Given the description of an element on the screen output the (x, y) to click on. 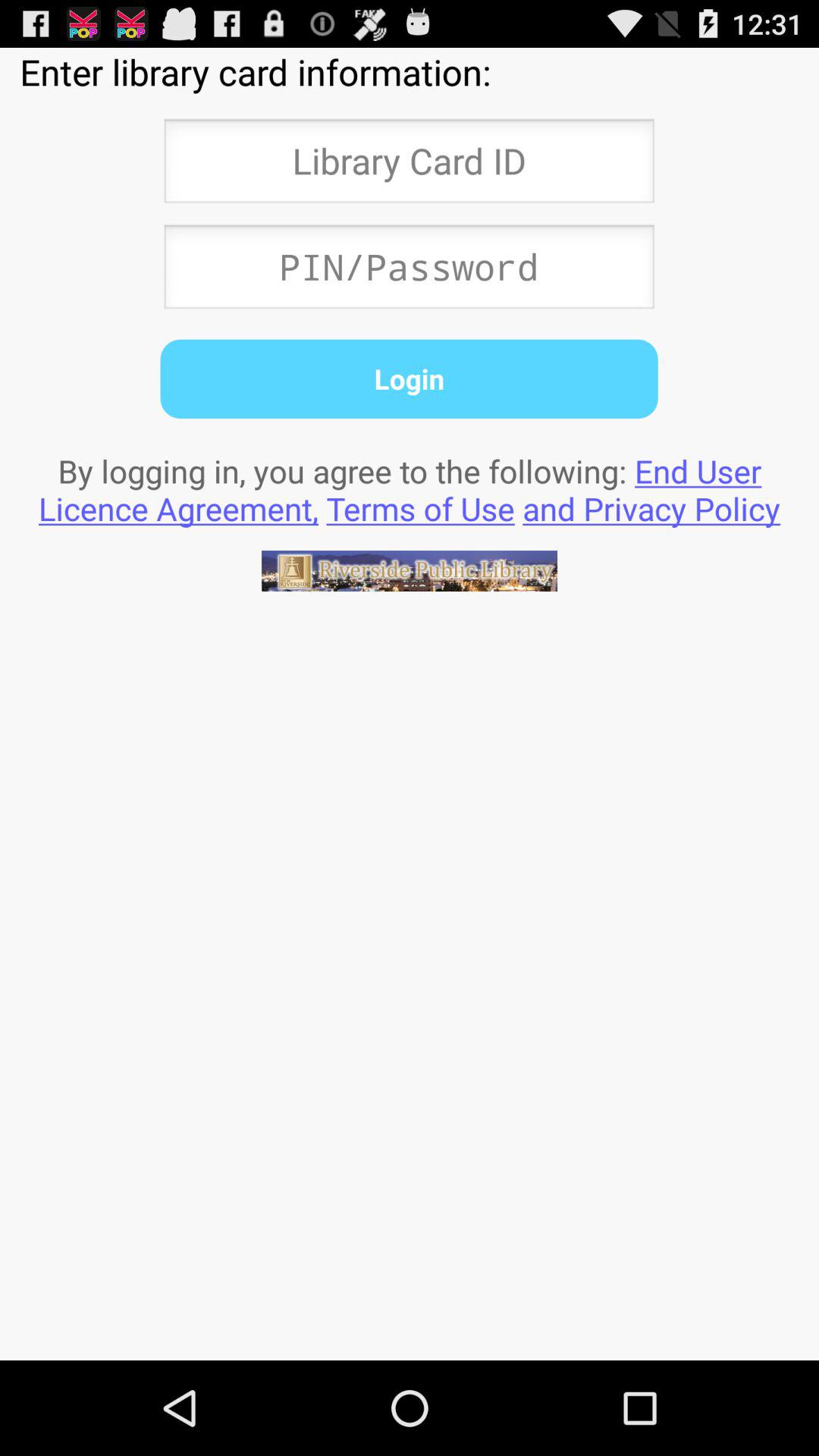
choose item above by logging in item (409, 378)
